Given the description of an element on the screen output the (x, y) to click on. 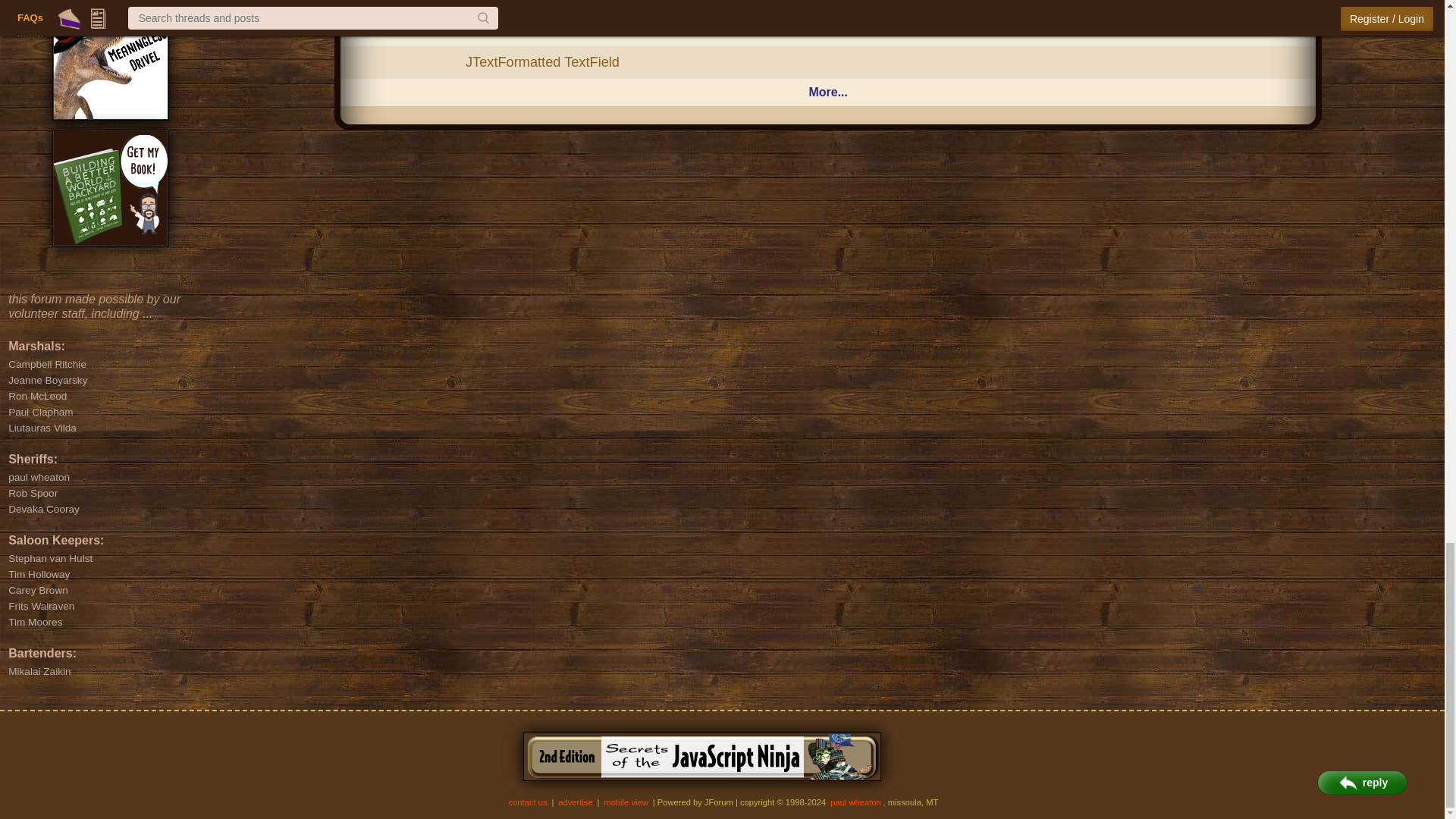
mobile view (626, 801)
